Given the description of an element on the screen output the (x, y) to click on. 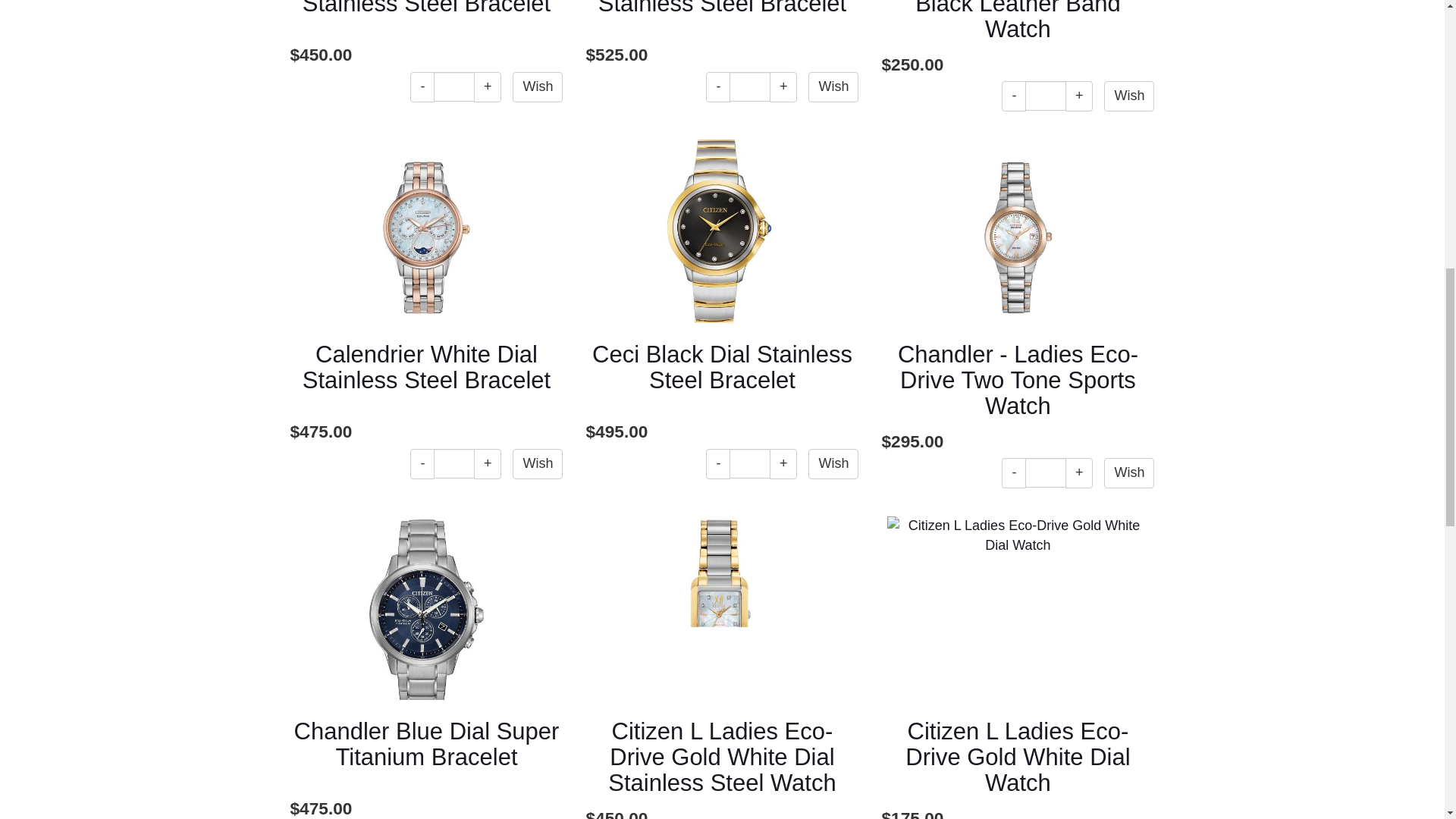
Wish (537, 87)
Wish (537, 463)
Wish (537, 87)
Arezzo Silver-Tone Dial Stainless Steel Bracelet (426, 8)
Arezzo White Dial Stainless Steel Bracelet (721, 8)
Arezzo Silver-Tone Dial Stainless Steel Bracelet (426, 8)
Arezzo White Dial Stainless Steel Bracelet (721, 8)
Wish (1128, 96)
Wish (1128, 472)
Wish (833, 87)
